Given the description of an element on the screen output the (x, y) to click on. 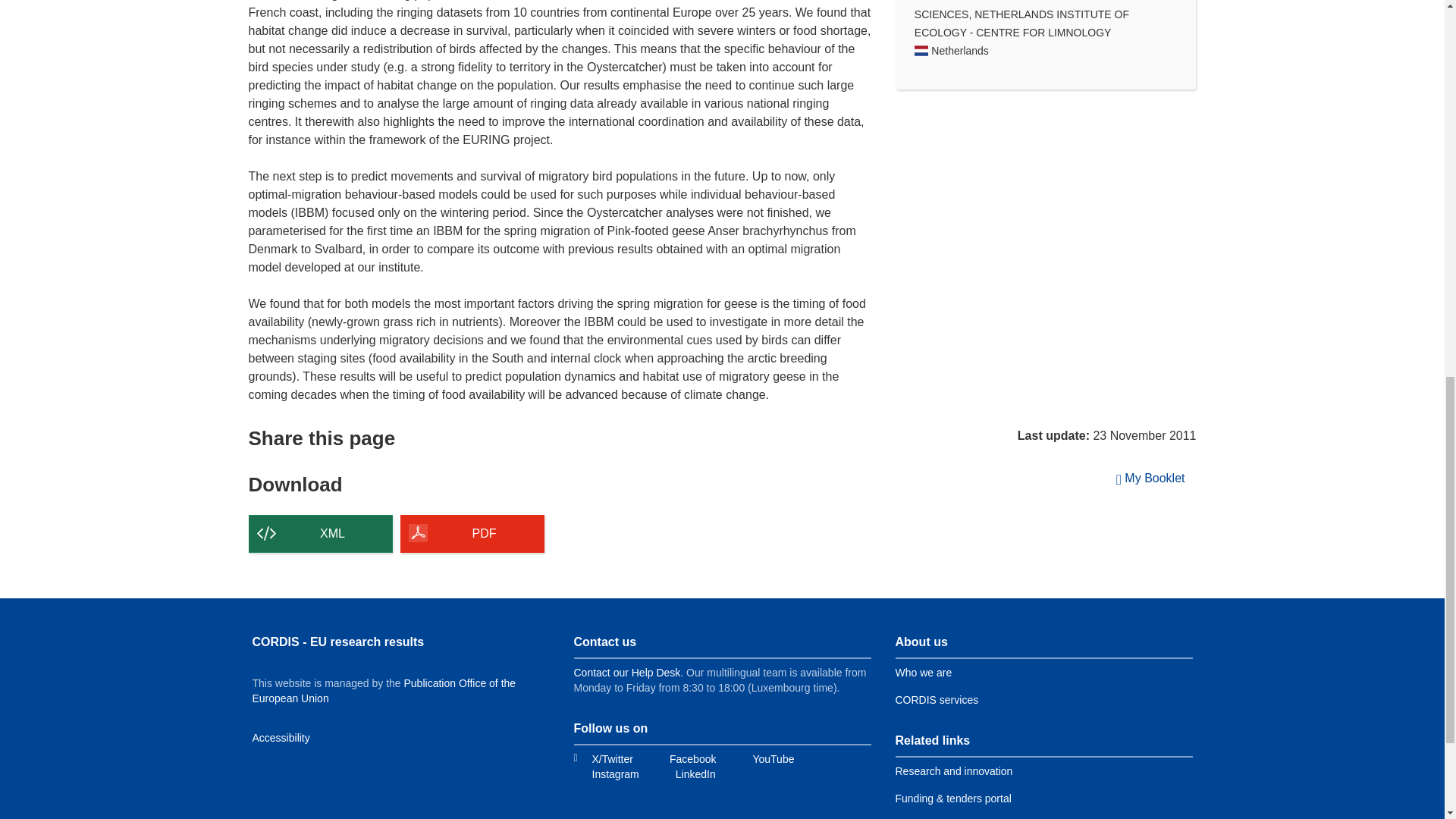
PDF (472, 533)
My Booklet (1150, 478)
Contact our Help Desk (626, 672)
XML (320, 533)
Publication Office of the European Union (383, 690)
Accessibility (279, 737)
